Given the description of an element on the screen output the (x, y) to click on. 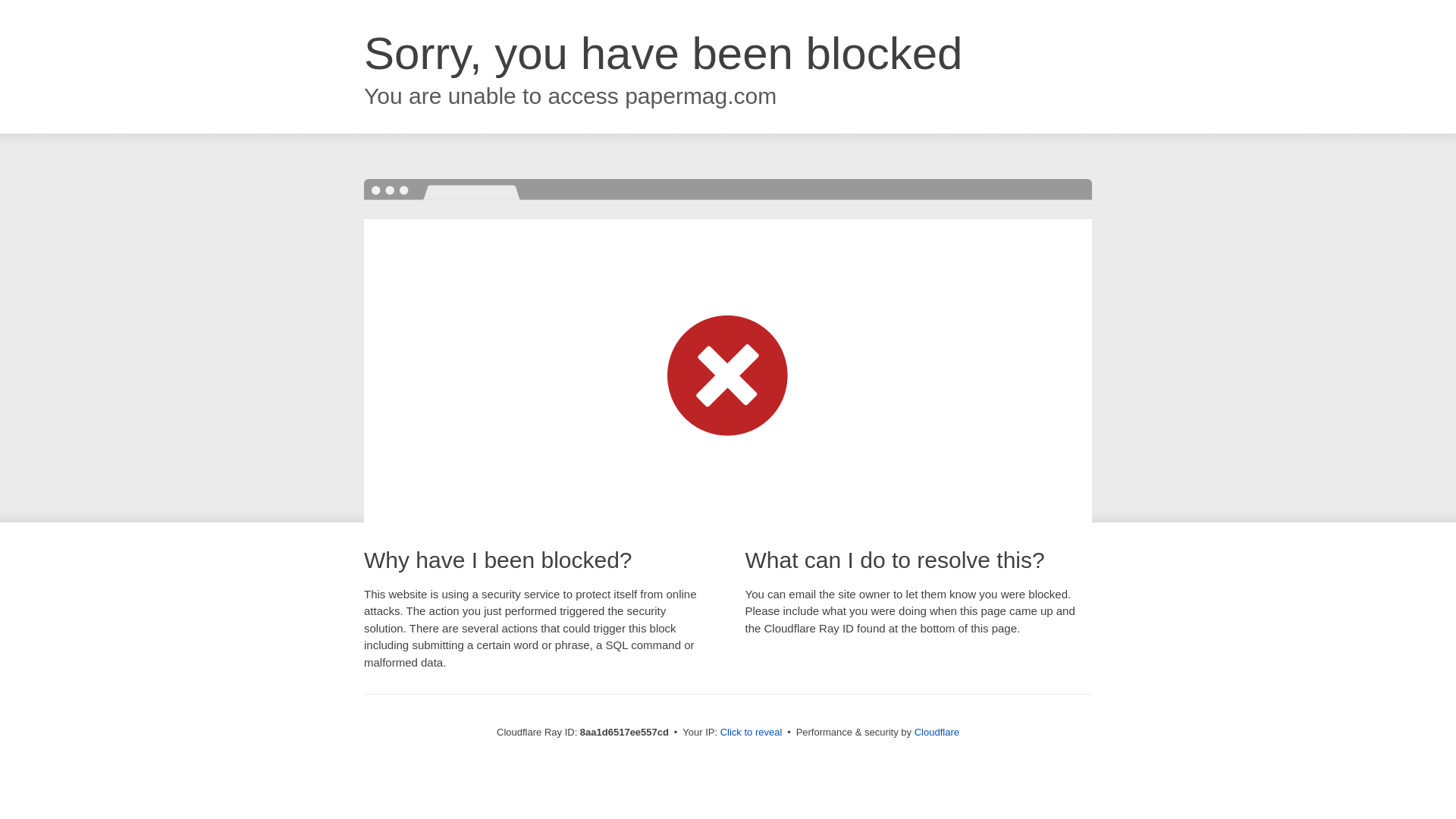
Cloudflare (936, 731)
Click to reveal (751, 732)
